Given the description of an element on the screen output the (x, y) to click on. 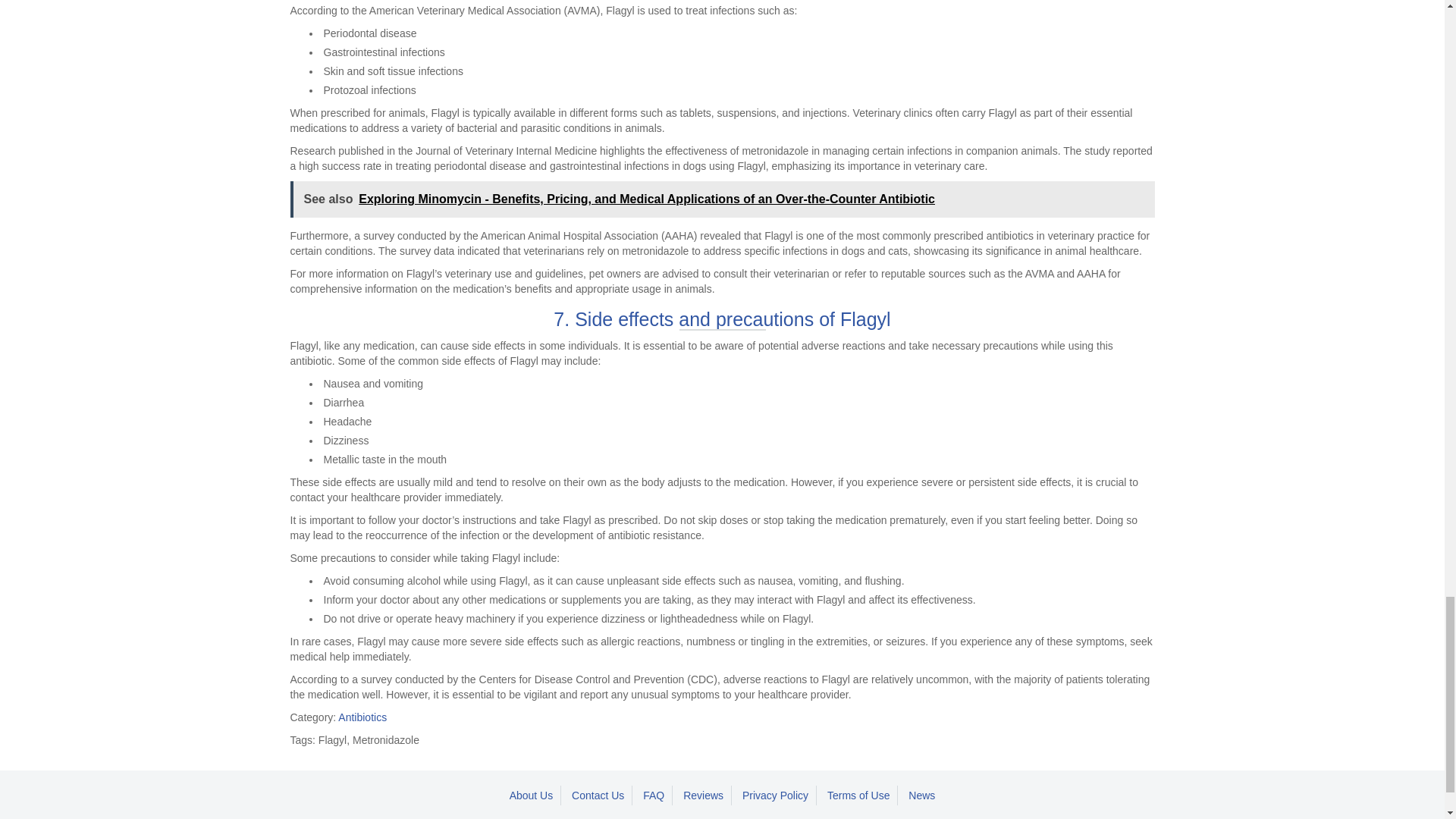
News (921, 795)
Privacy Policy (775, 795)
Terms of Use (858, 795)
FAQ (653, 795)
Contact Us (597, 795)
Reviews (703, 795)
About Us (532, 795)
Antibiotics (362, 717)
